Given the description of an element on the screen output the (x, y) to click on. 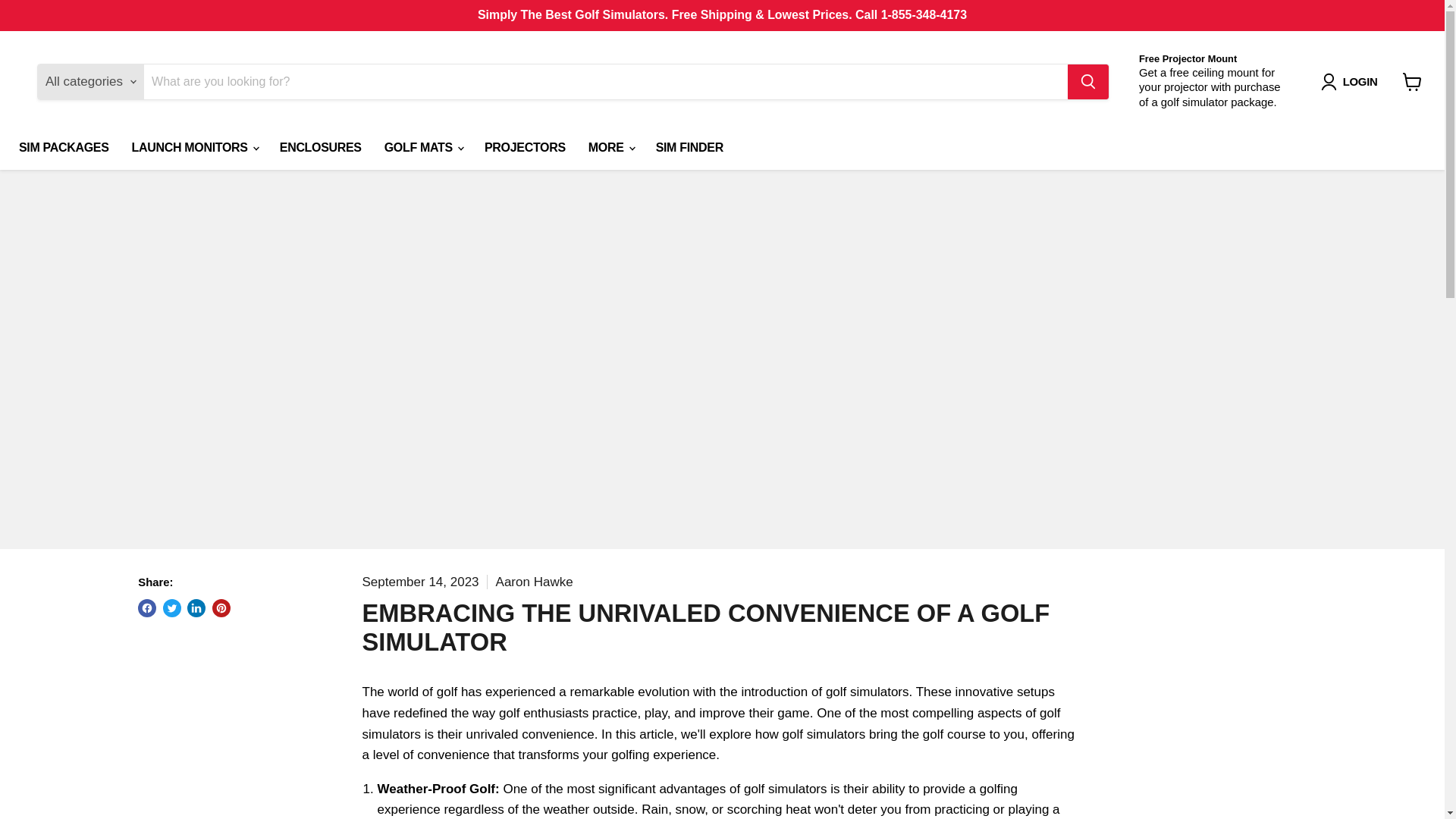
View cart (1411, 81)
LOGIN (1360, 81)
PROJECTORS (524, 147)
SIM PACKAGES (63, 147)
ENCLOSURES (319, 147)
SIM FINDER (690, 147)
